Given the description of an element on the screen output the (x, y) to click on. 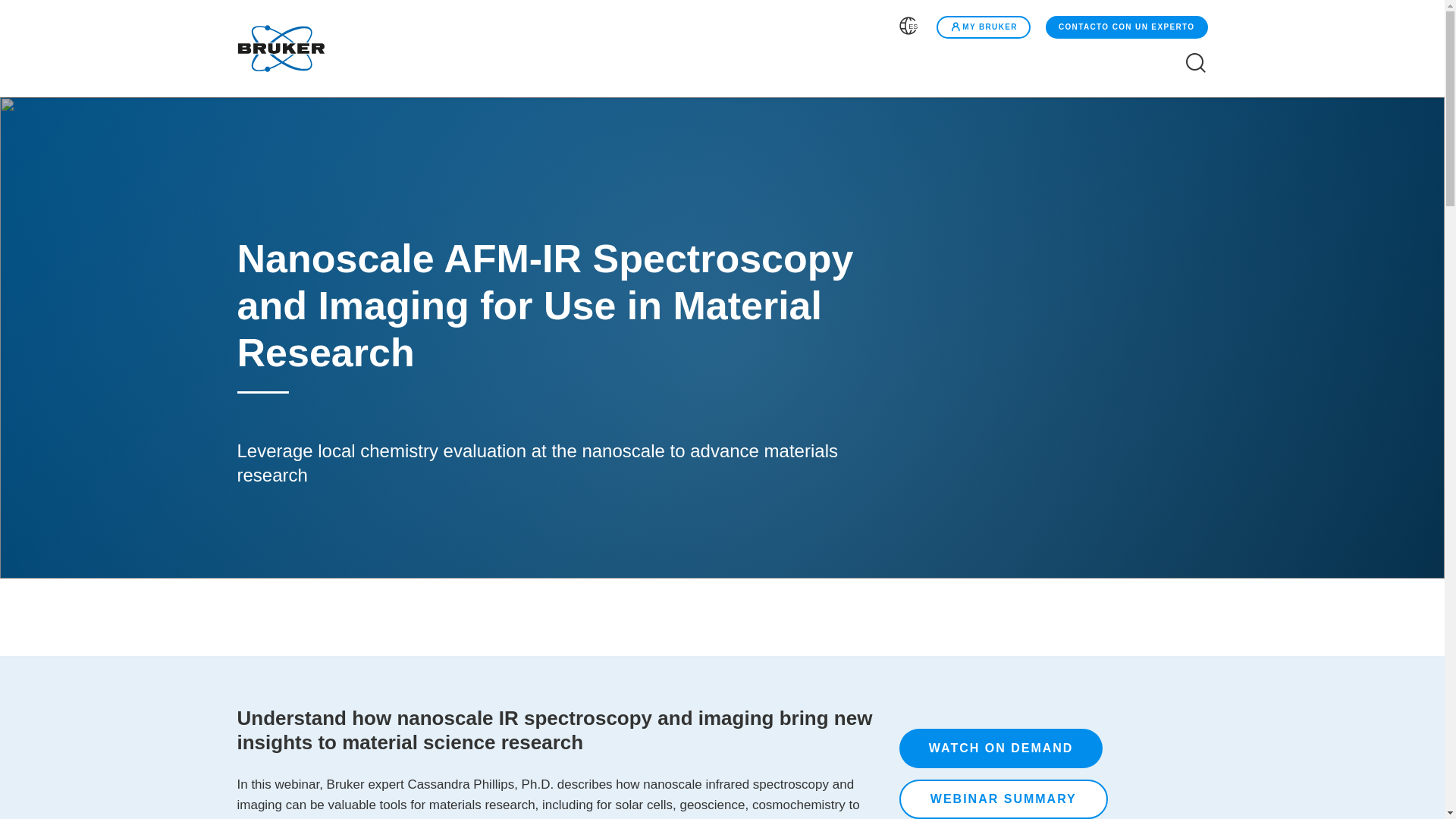
MY BRUKER (983, 26)
WEBINAR SUMMARY (1003, 799)
CONTACTO CON UN EXPERTO (1126, 26)
WATCH ON DEMAND (1001, 748)
CONTACTO CON UN EXPERTO (1125, 27)
